Given the description of an element on the screen output the (x, y) to click on. 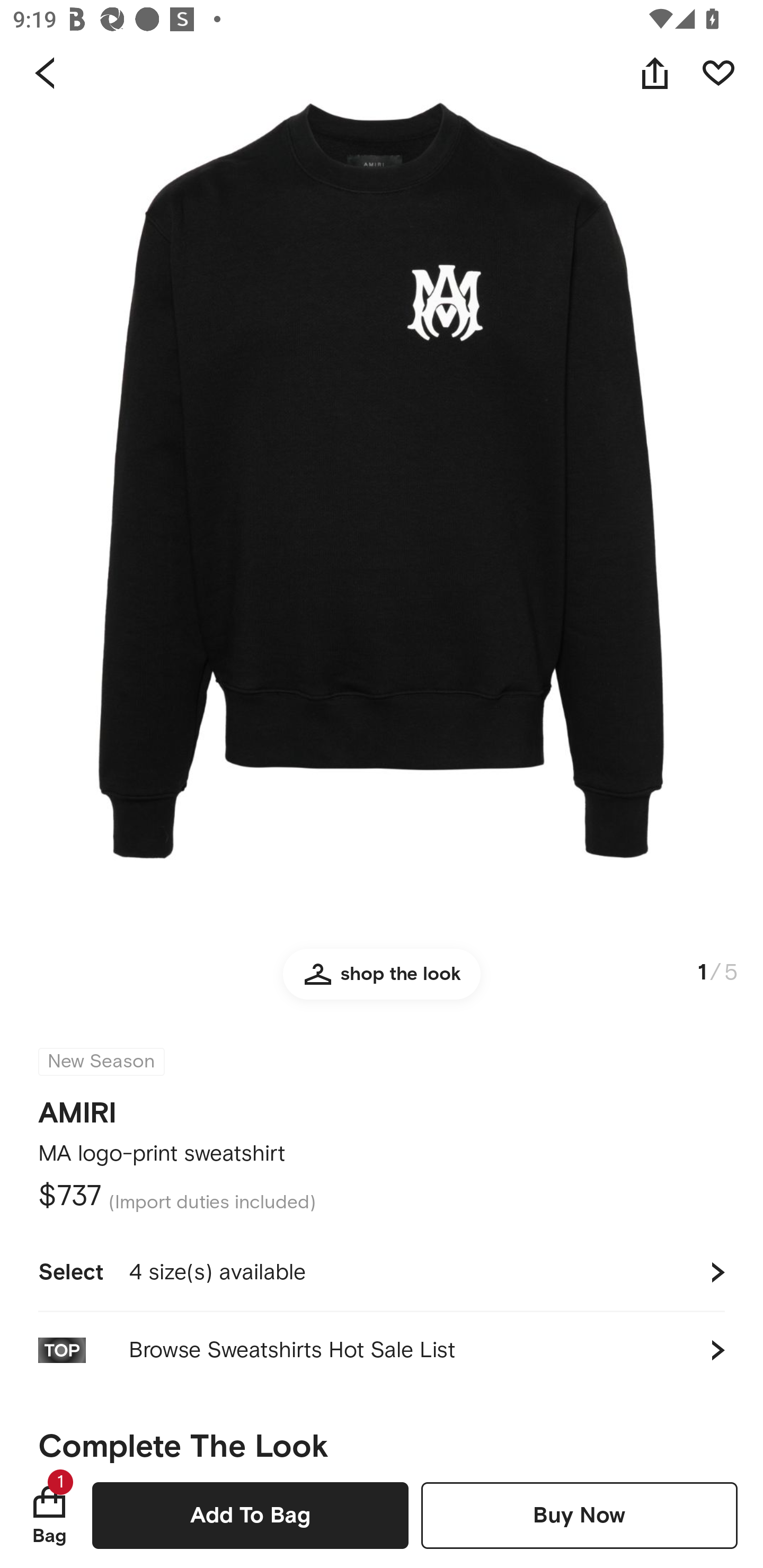
shop the look (381, 982)
AMIRI (77, 1107)
Select 4 size(s) available (381, 1272)
Browse Sweatshirts Hot Sale List (381, 1349)
Bag 1 (49, 1515)
Add To Bag (250, 1515)
Buy Now (579, 1515)
